Given the description of an element on the screen output the (x, y) to click on. 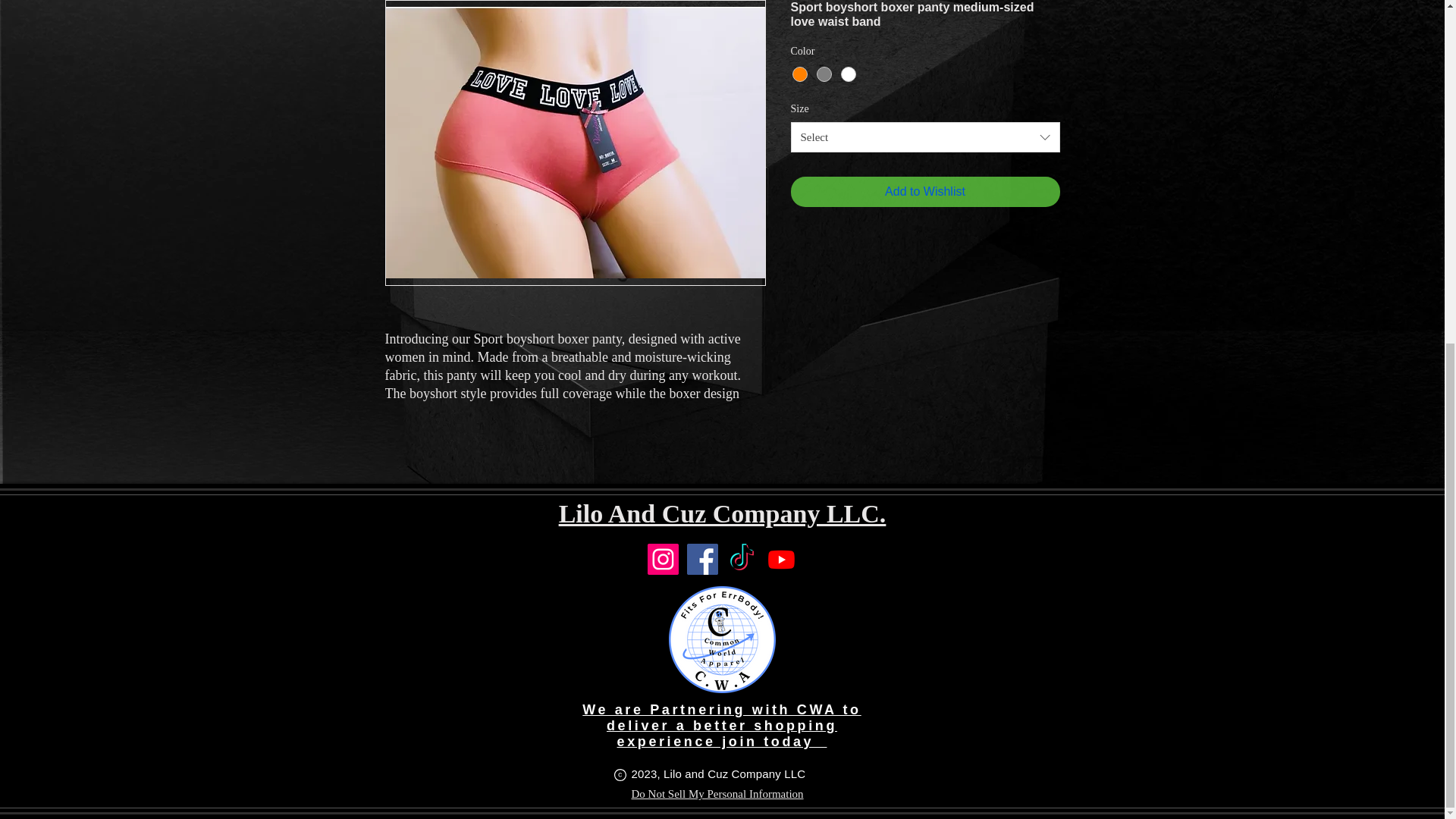
Add to Wishlist (924, 191)
Lilo And Cuz Company LLC. (722, 513)
Do Not Sell My Personal Information (716, 794)
Select (924, 137)
